Given the description of an element on the screen output the (x, y) to click on. 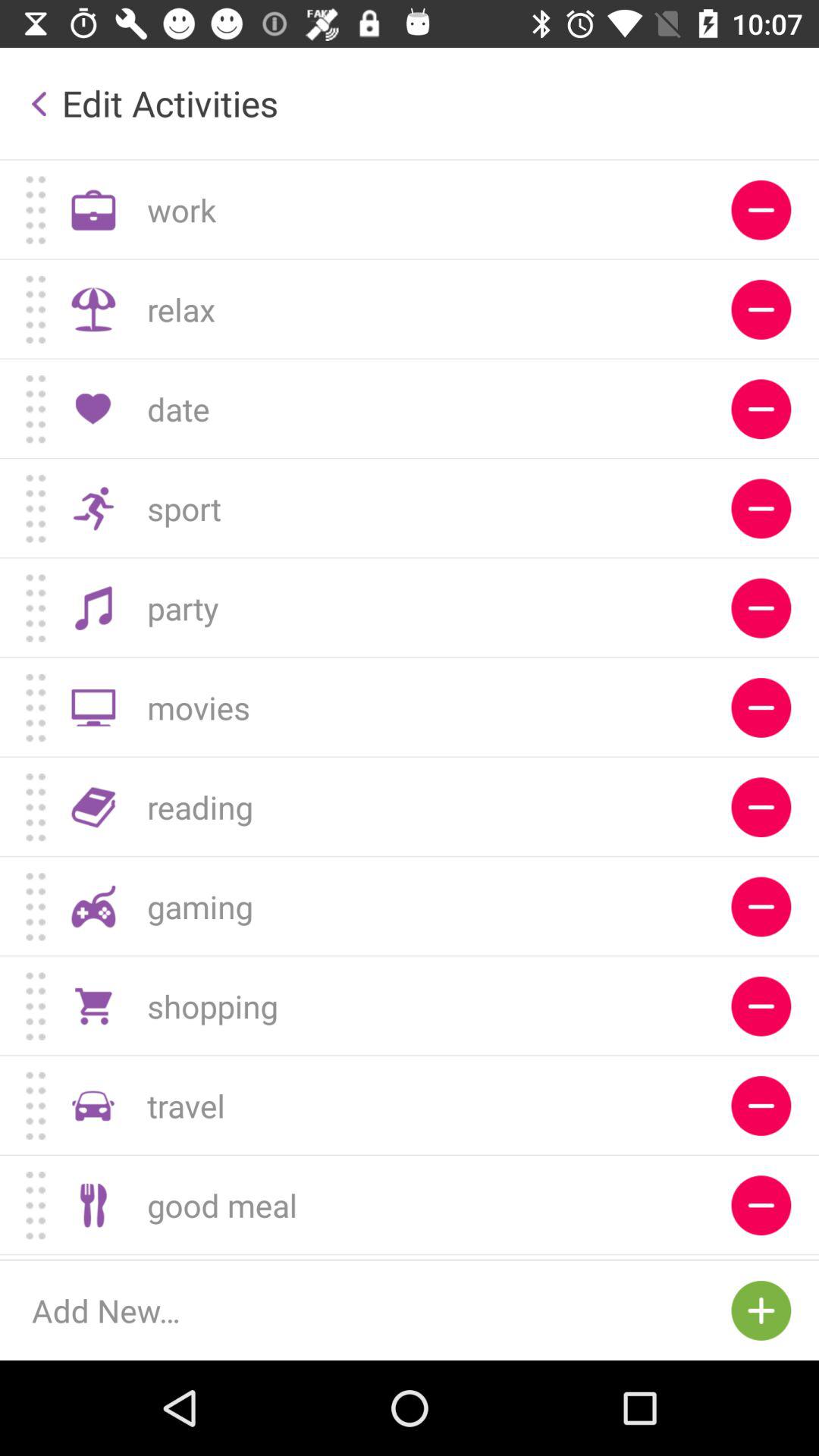
remove activity (761, 707)
